Given the description of an element on the screen output the (x, y) to click on. 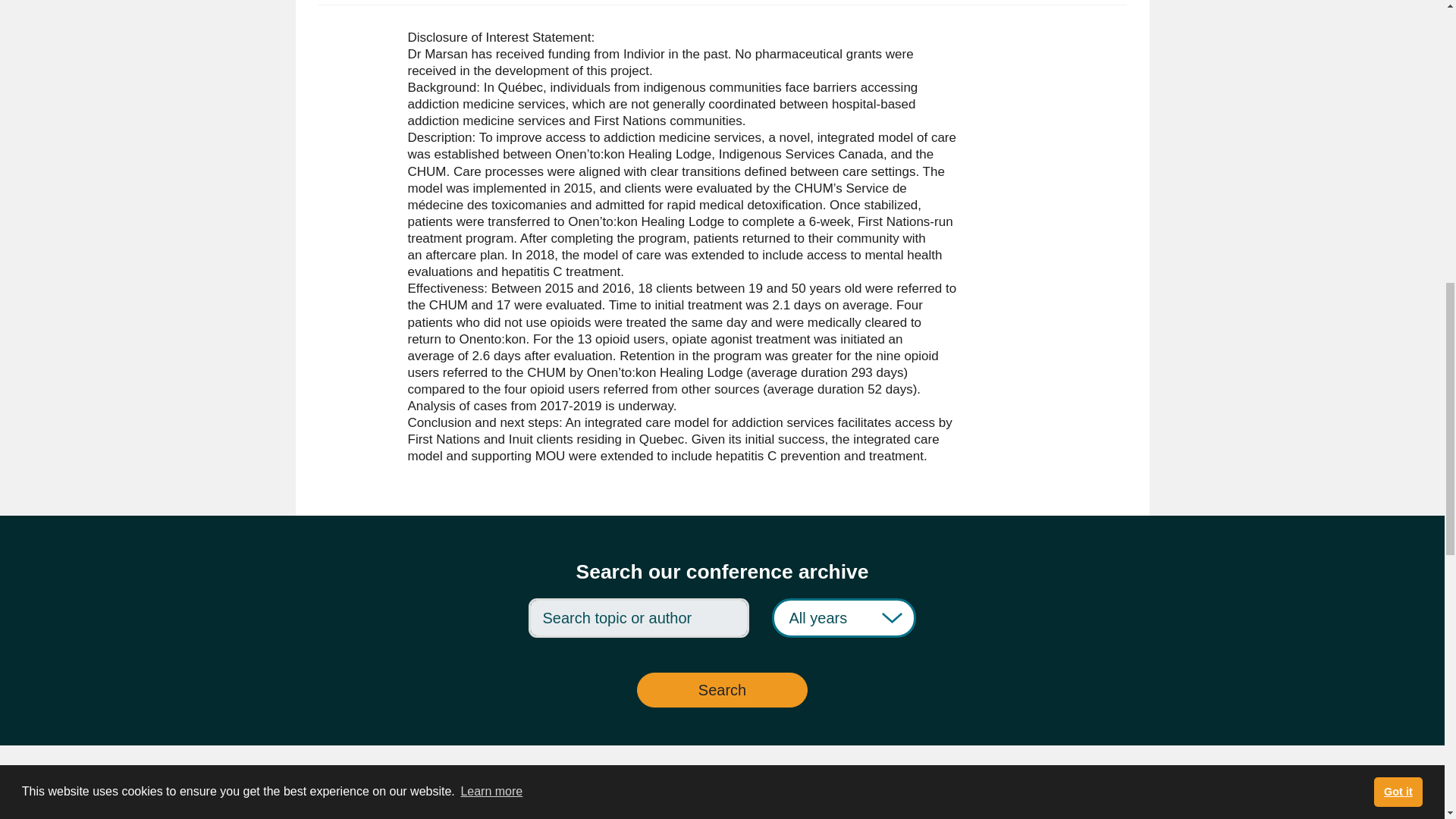
Search (722, 689)
